Given the description of an element on the screen output the (x, y) to click on. 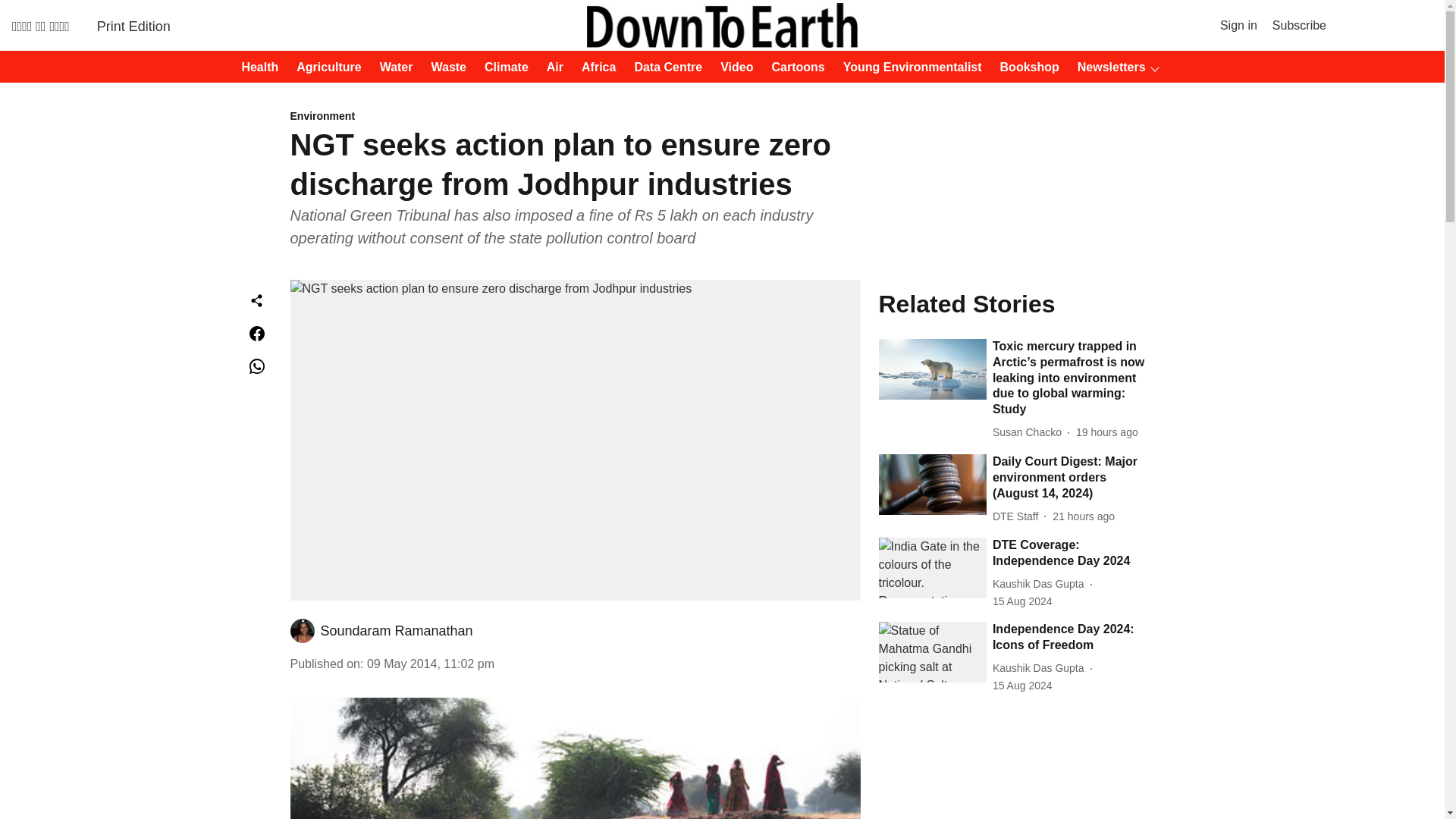
Cartoons (793, 67)
Agriculture (323, 67)
2024-08-16 11:17 (1106, 432)
Young Environmentalist (907, 67)
Print Edition (133, 26)
2024-08-15 10:22 (1022, 601)
Video (731, 67)
Waste (443, 67)
Health (254, 67)
Soundaram Ramanathan (395, 630)
